Given the description of an element on the screen output the (x, y) to click on. 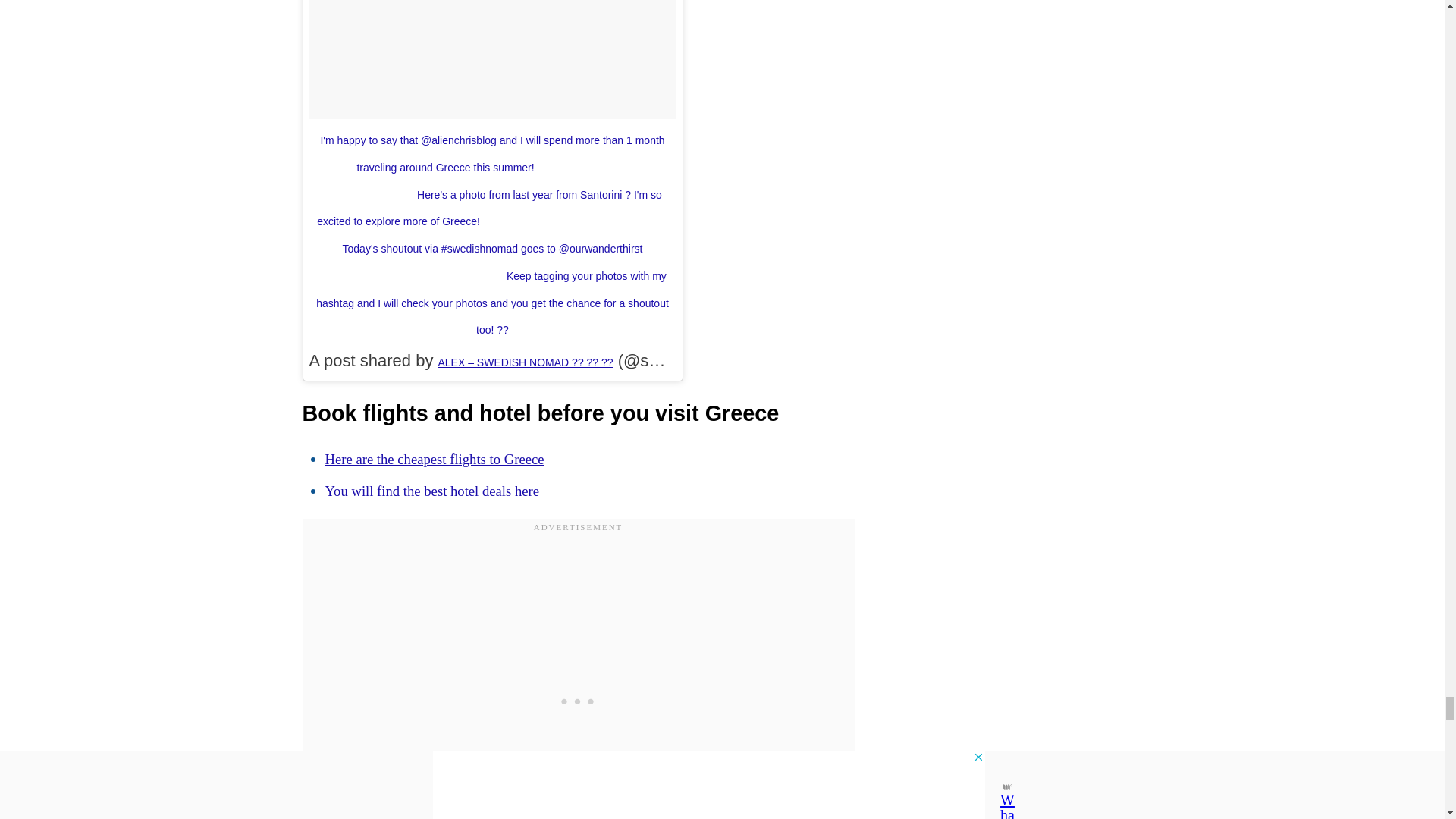
Momondo (433, 458)
Booking.com (431, 490)
